Given the description of an element on the screen output the (x, y) to click on. 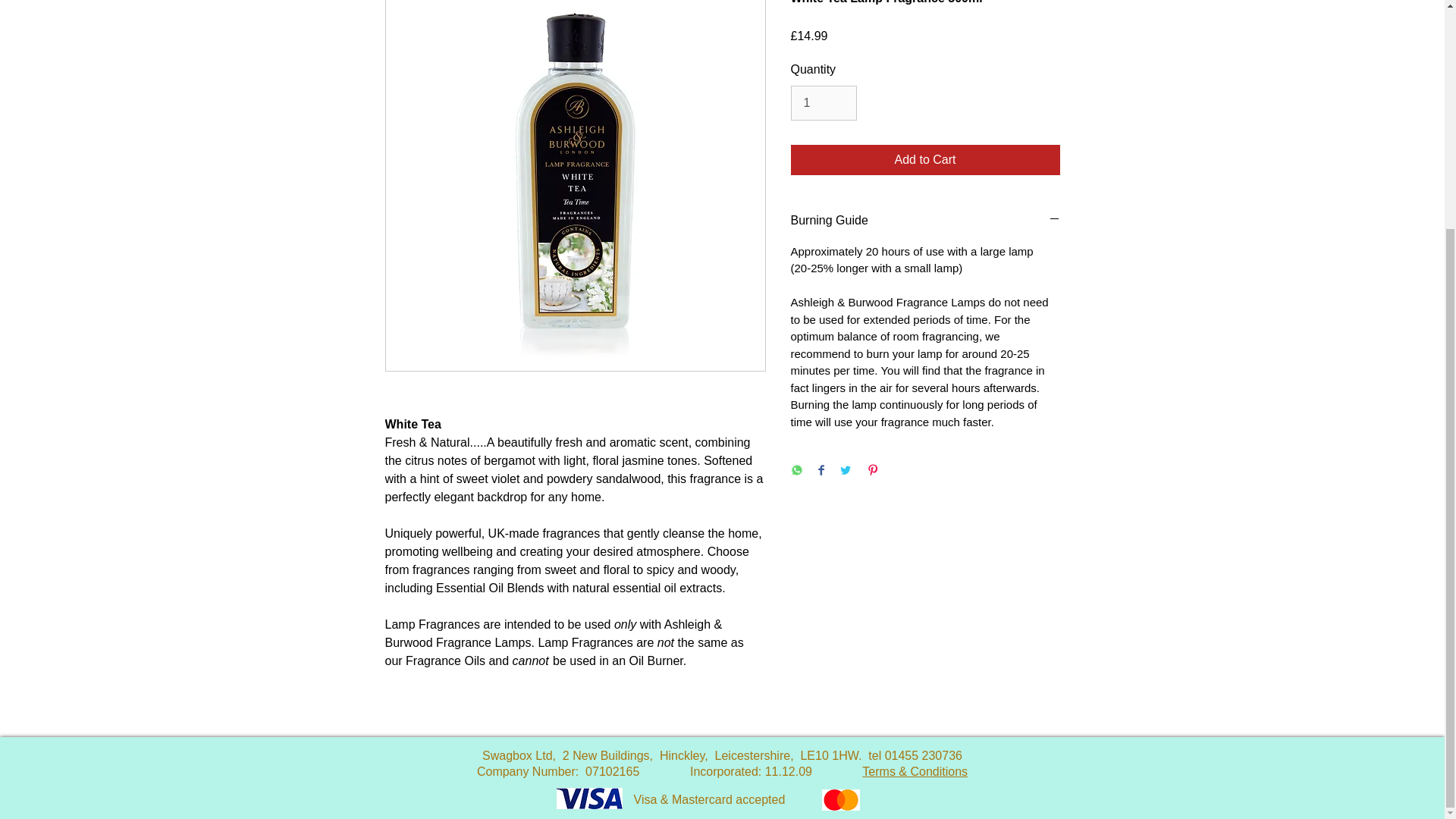
Burning Guide (924, 220)
1 (823, 102)
Add to Cart (924, 159)
